Given the description of an element on the screen output the (x, y) to click on. 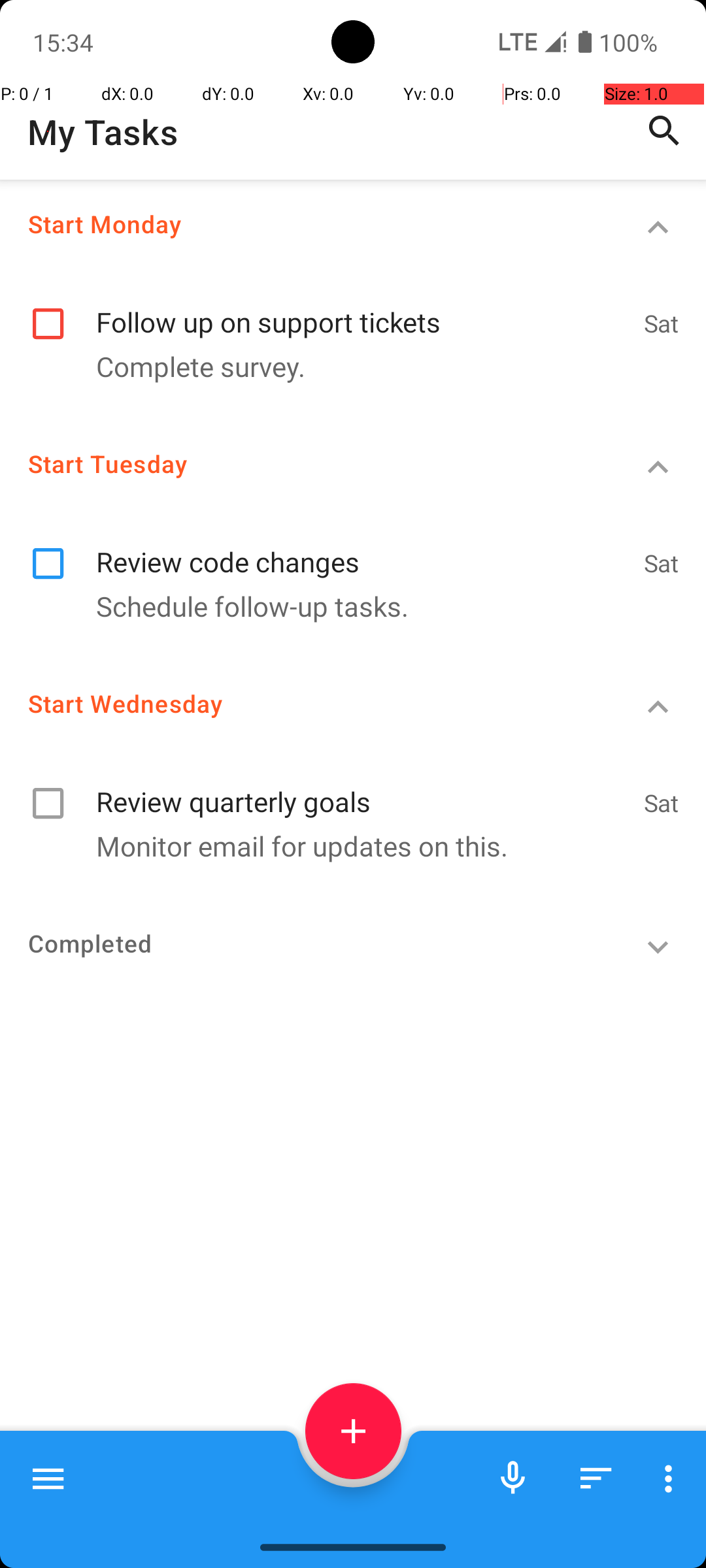
Start Monday Element type: android.widget.TextView (304, 223)
Start Tuesday Element type: android.widget.TextView (304, 463)
Start Wednesday Element type: android.widget.TextView (304, 703)
Completed Element type: android.widget.TextView (304, 942)
Follow up on support tickets Element type: android.widget.TextView (363, 307)
Complete survey. Element type: android.widget.TextView (346, 365)
Review code changes Element type: android.widget.TextView (363, 547)
Schedule follow-up tasks. Element type: android.widget.TextView (346, 605)
Review quarterly goals Element type: android.widget.TextView (363, 787)
